Given the description of an element on the screen output the (x, y) to click on. 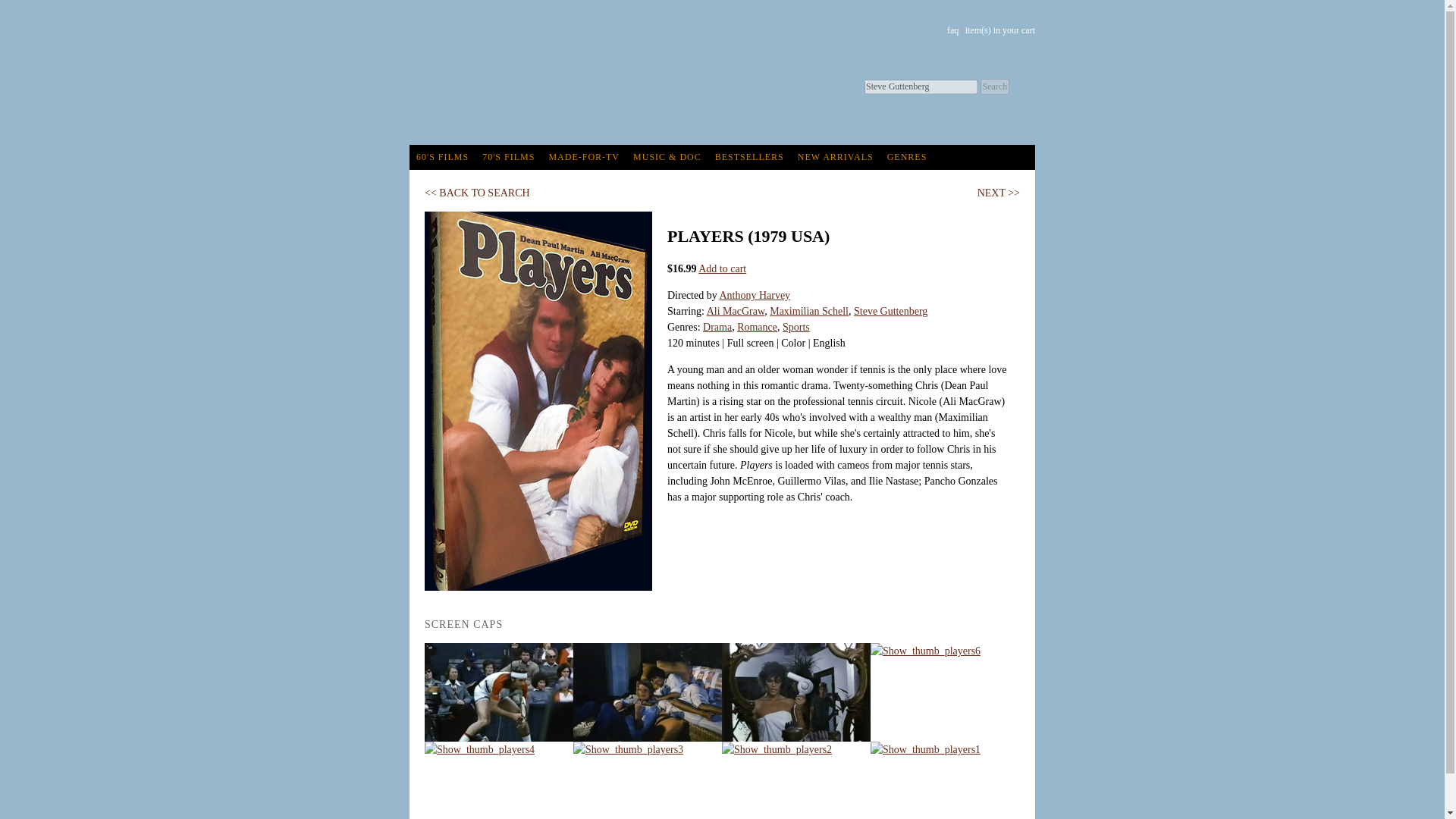
Ali MacGraw (735, 310)
Add to cart (721, 268)
Steve Guttenberg (890, 310)
Search (994, 86)
Romance (756, 326)
Anthony Harvey (754, 295)
Drama (717, 326)
GENRES (907, 156)
MADE-FOR-TV (583, 156)
Sports (796, 326)
60'S FILMS (442, 156)
Steve Guttenberg (920, 86)
faq (952, 30)
Search (994, 86)
NEW ARRIVALS (835, 156)
